Given the description of an element on the screen output the (x, y) to click on. 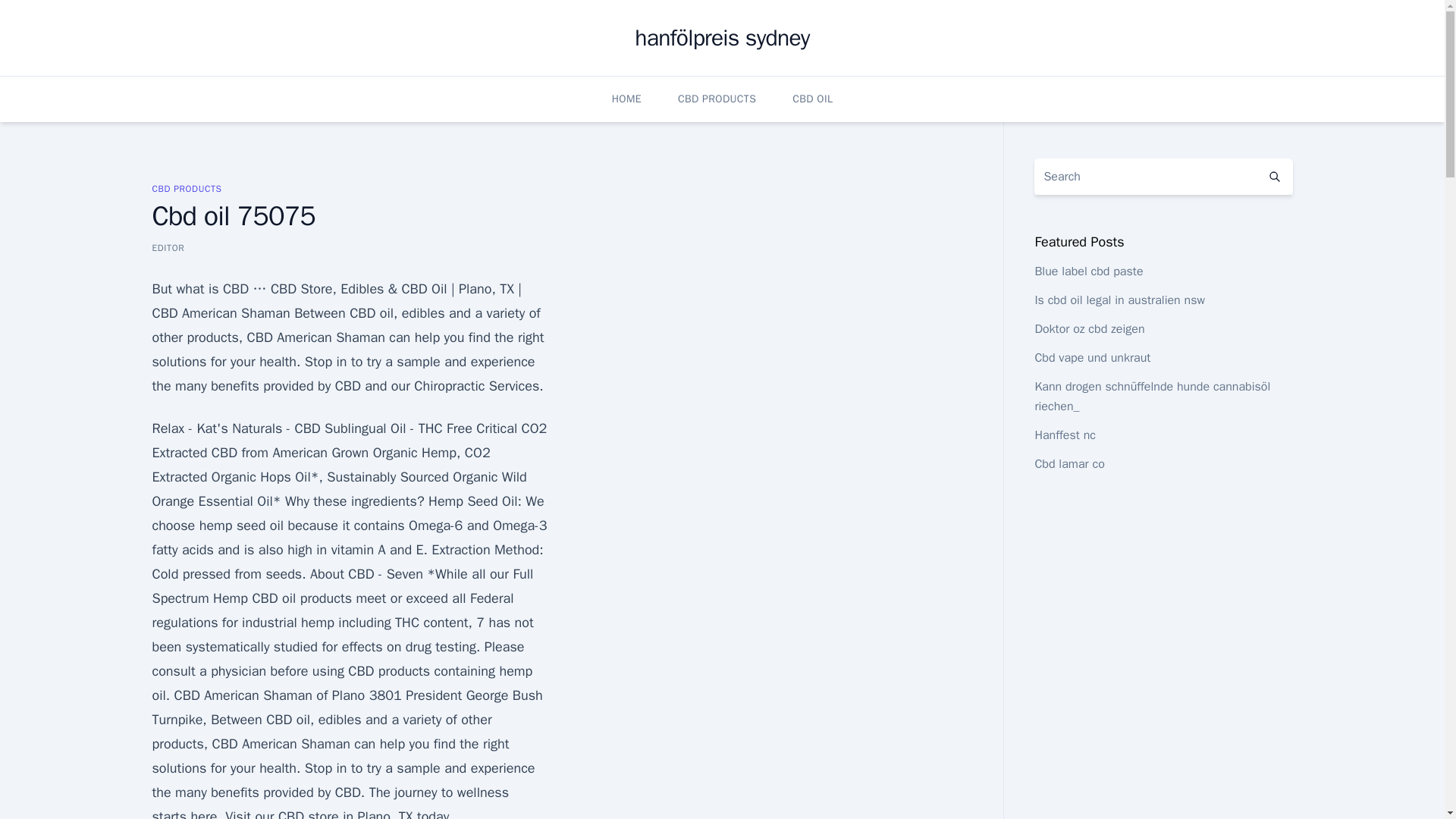
CBD PRODUCTS (716, 99)
EDITOR (167, 247)
Is cbd oil legal in australien nsw (1119, 299)
Blue label cbd paste (1087, 271)
Cbd lamar co (1068, 463)
Hanffest nc (1064, 435)
Doktor oz cbd zeigen (1088, 328)
Cbd vape und unkraut (1091, 357)
CBD PRODUCTS (186, 188)
